Given the description of an element on the screen output the (x, y) to click on. 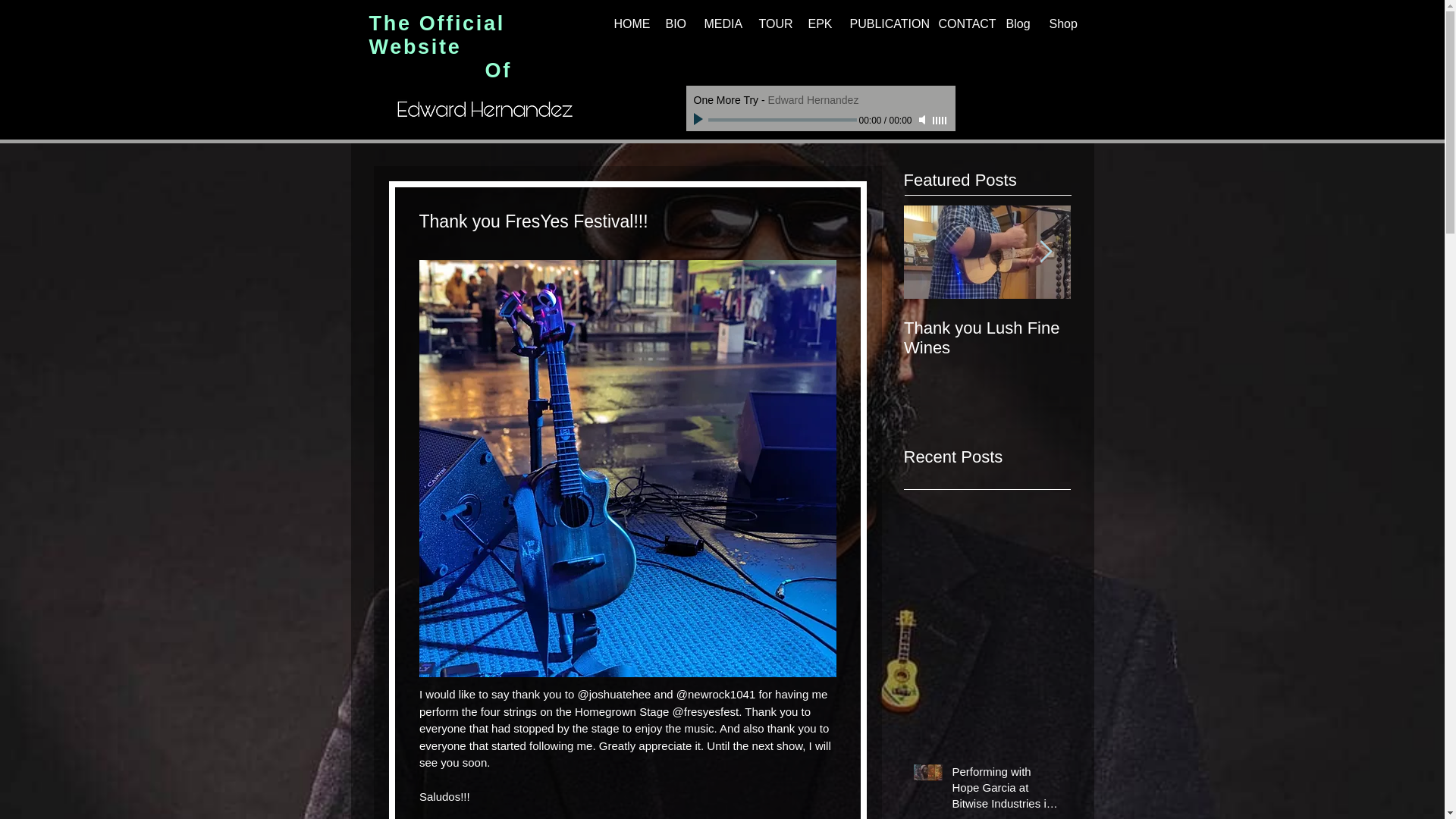
Thank you Lush Fine Wines (987, 337)
0 (782, 119)
TOUR (773, 24)
PUBLICATION (884, 24)
EPK (820, 24)
CONTACT (963, 24)
Shop (1064, 24)
Blog (1017, 24)
BIO (675, 24)
MEDIA (721, 24)
HOME (630, 24)
